Given the description of an element on the screen output the (x, y) to click on. 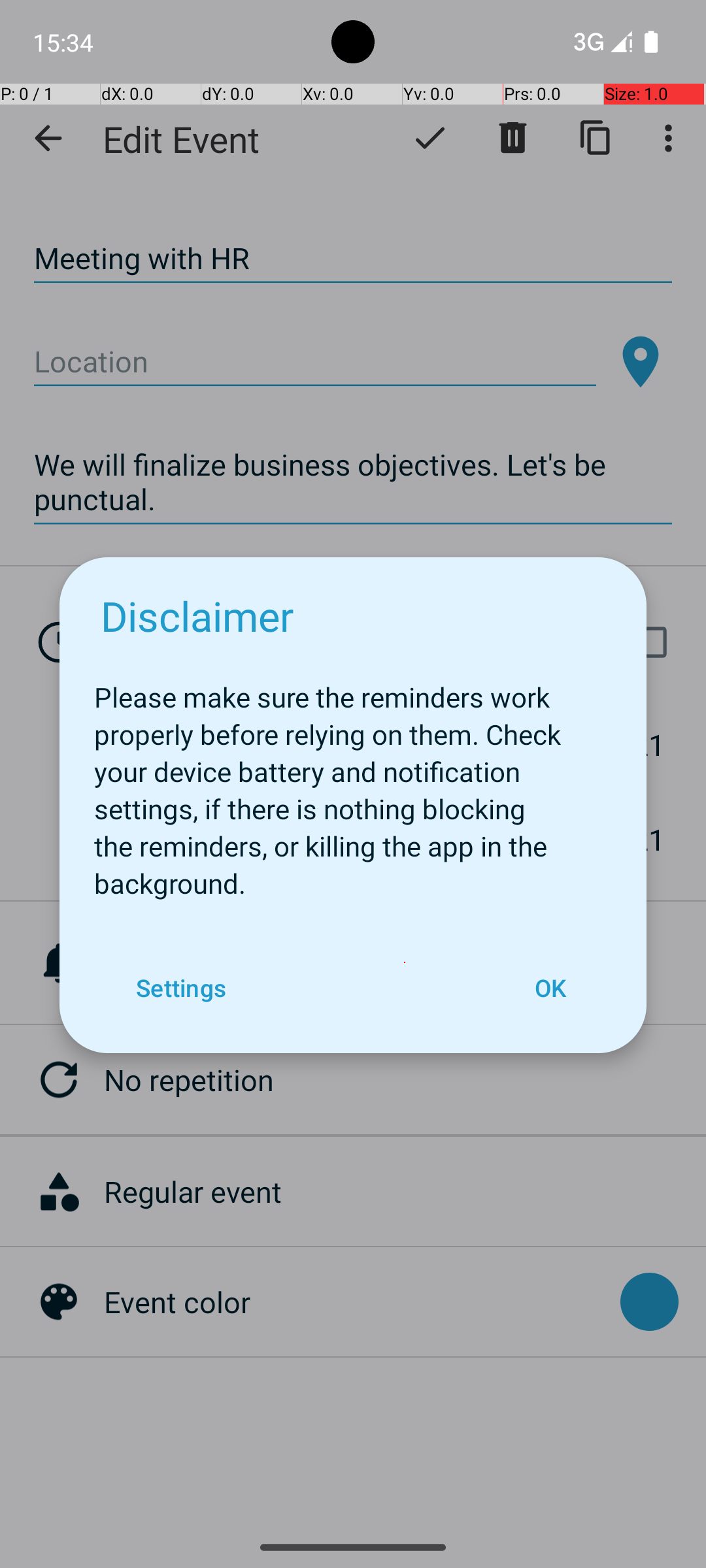
Disclaimer Element type: android.widget.TextView (196, 615)
Please make sure the reminders work properly before relying on them. Check your device battery and notification settings, if there is nothing blocking the reminders, or killing the app in the background. Element type: android.widget.TextView (352, 782)
